Given the description of an element on the screen output the (x, y) to click on. 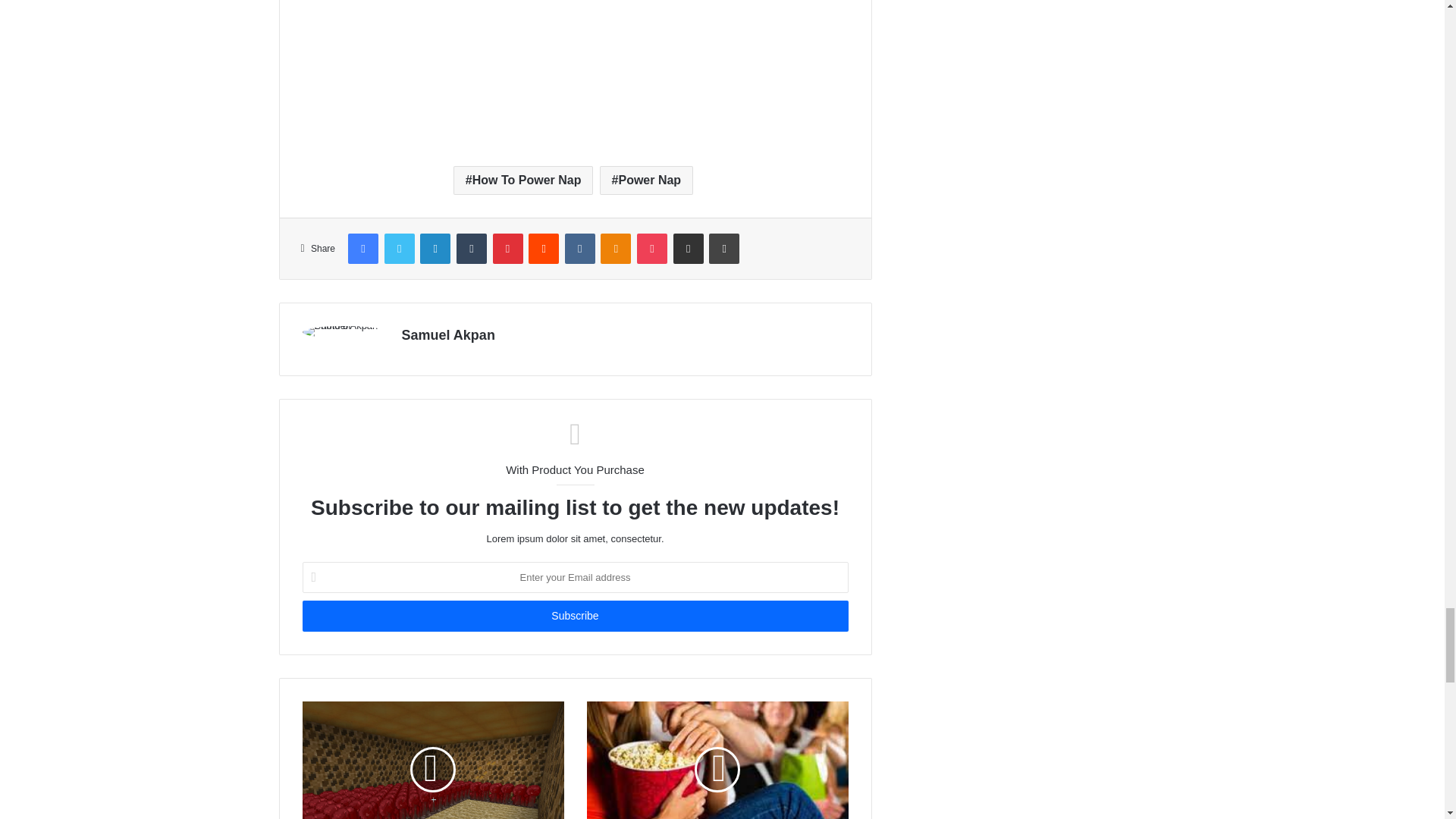
Subscribe (574, 615)
